Given the description of an element on the screen output the (x, y) to click on. 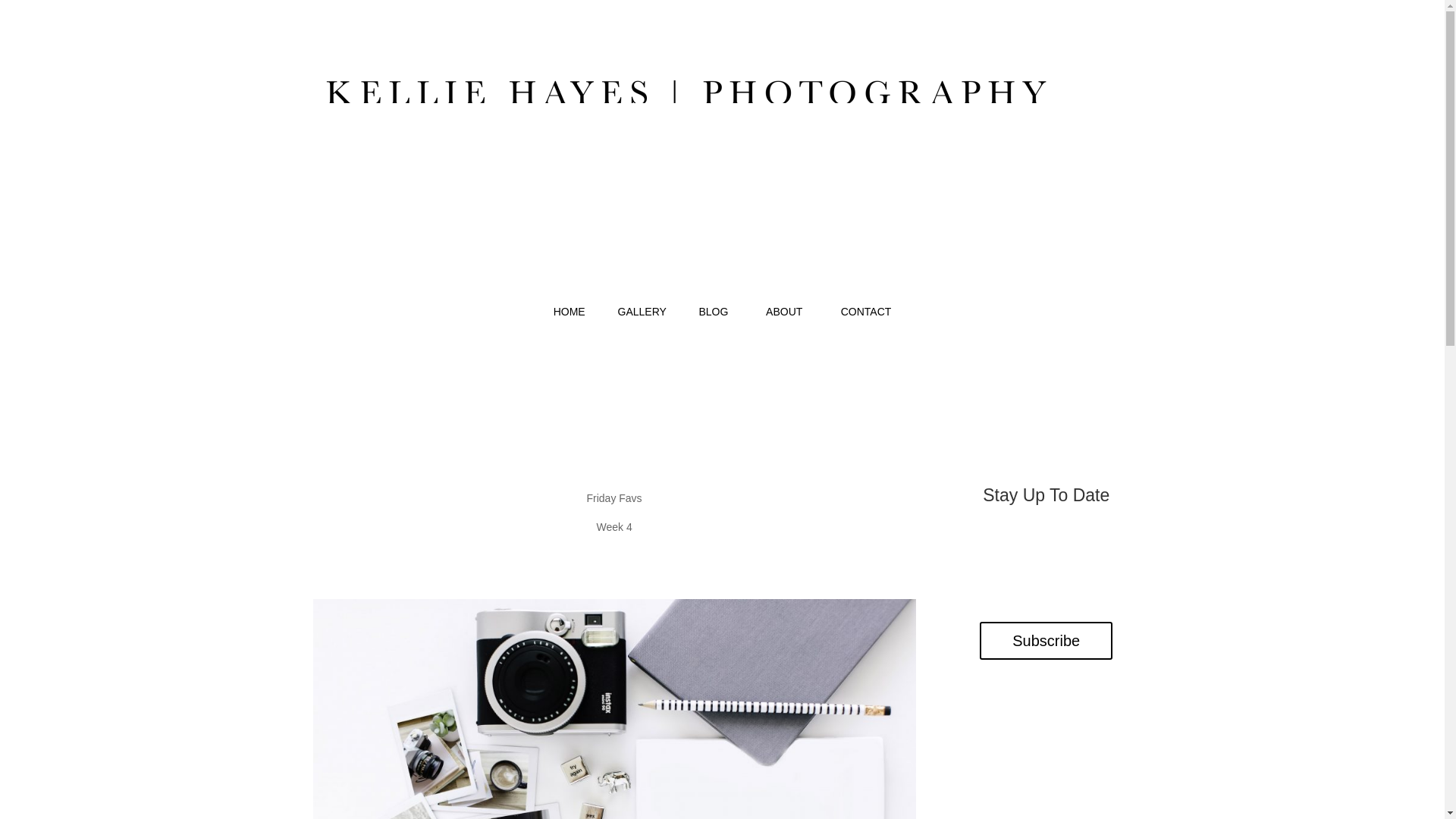
CONTACT (866, 311)
HOME (569, 311)
BLOG (713, 311)
GALLERY (641, 311)
ABOUT (783, 311)
Subscribe (1045, 640)
